Given the description of an element on the screen output the (x, y) to click on. 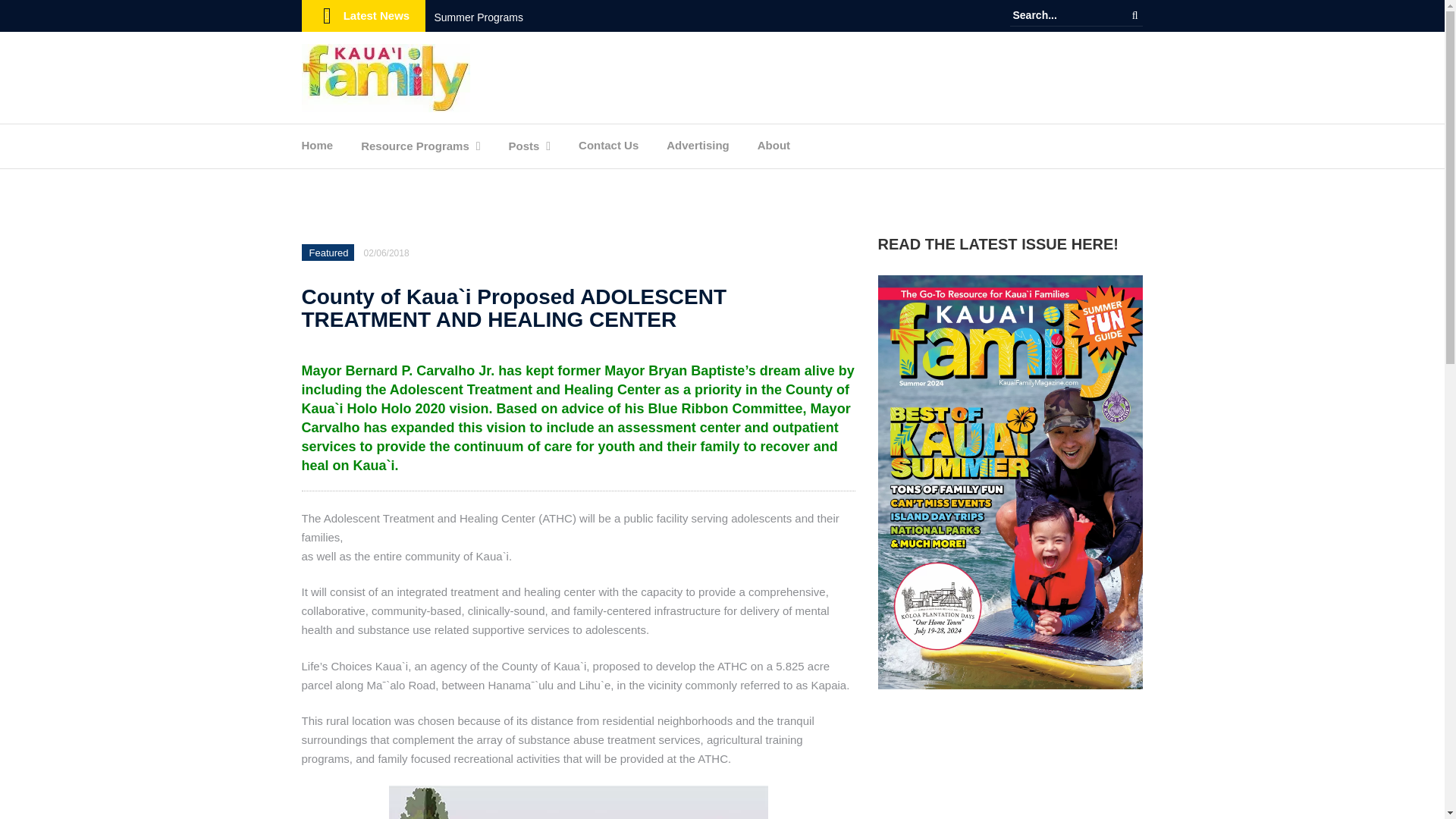
Contact Us (608, 148)
Search   (1134, 14)
About (773, 148)
Posts (523, 149)
Advertising (697, 148)
Summer Programs (477, 17)
Resource Programs (414, 149)
About Kauai Family Magazine (773, 148)
Home (317, 148)
Featured (328, 252)
